Given the description of an element on the screen output the (x, y) to click on. 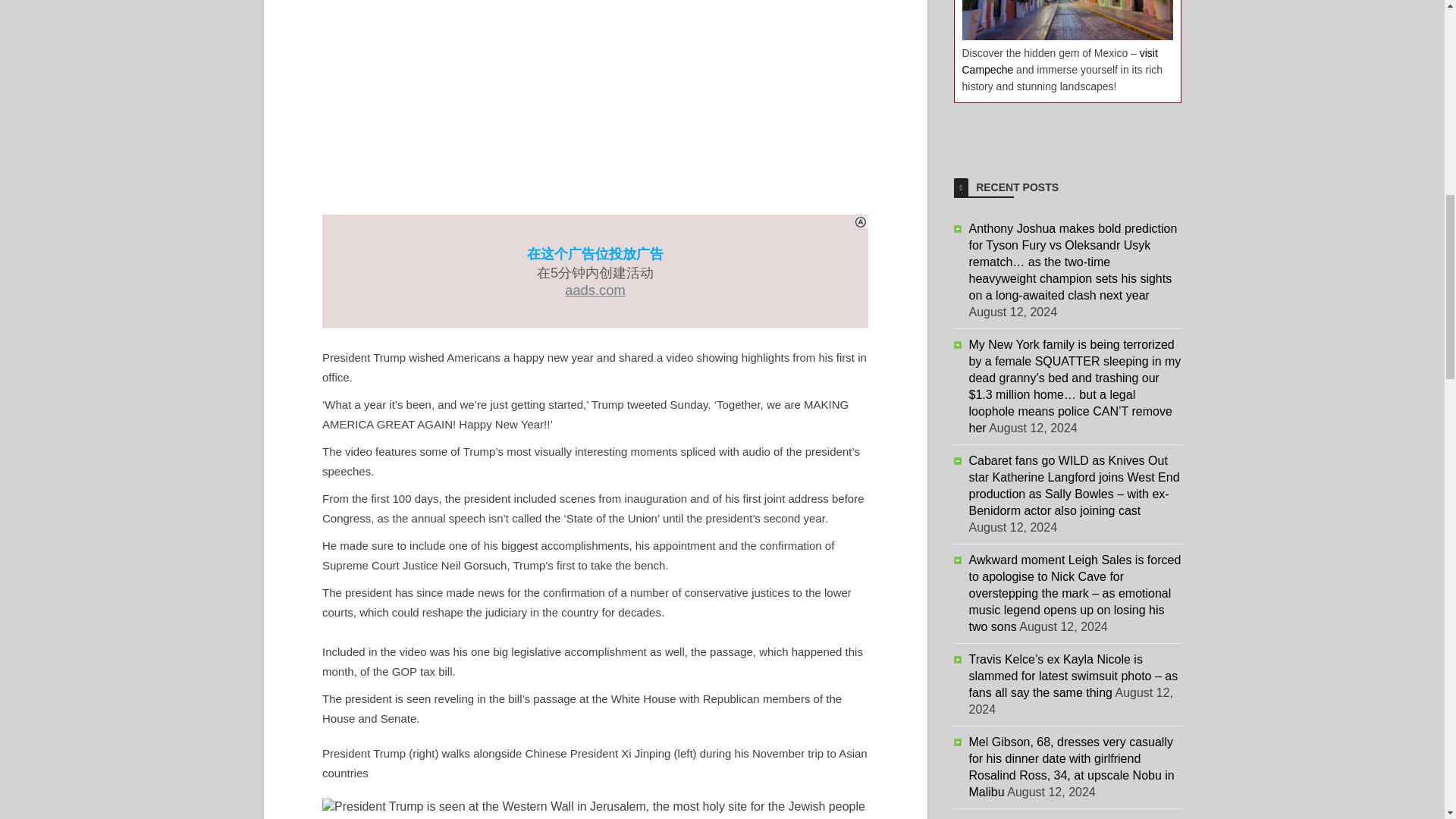
visit Campeche (1058, 61)
